Given the description of an element on the screen output the (x, y) to click on. 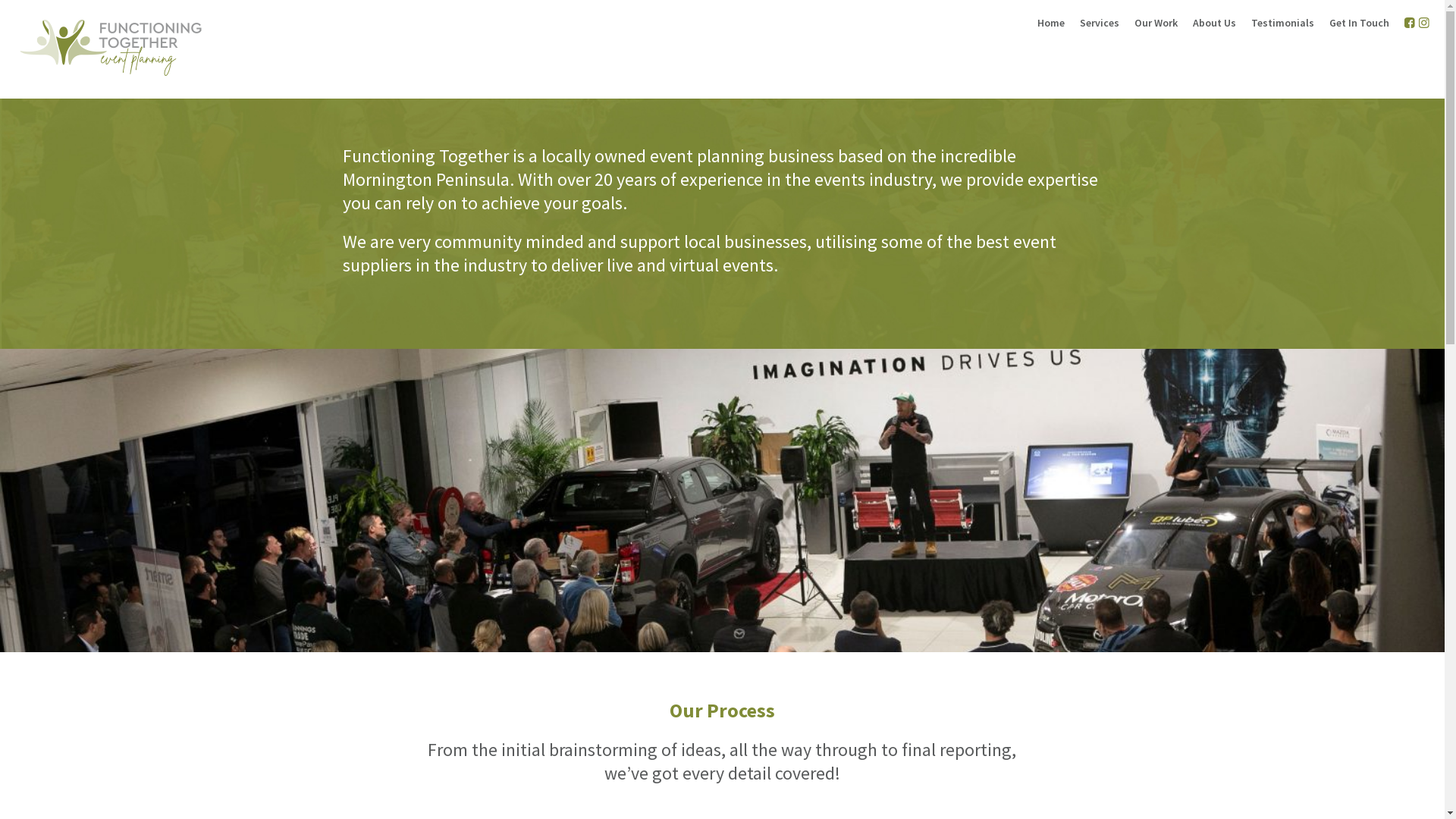
About Us Element type: text (1214, 22)
Facebook Element type: text (1409, 22)
Our Work Element type: text (1155, 22)
Home Element type: text (1050, 22)
Services Element type: text (1099, 22)
Instagram Element type: text (1423, 22)
Testimonials Element type: text (1282, 22)
Get In Touch Element type: text (1358, 22)
